Given the description of an element on the screen output the (x, y) to click on. 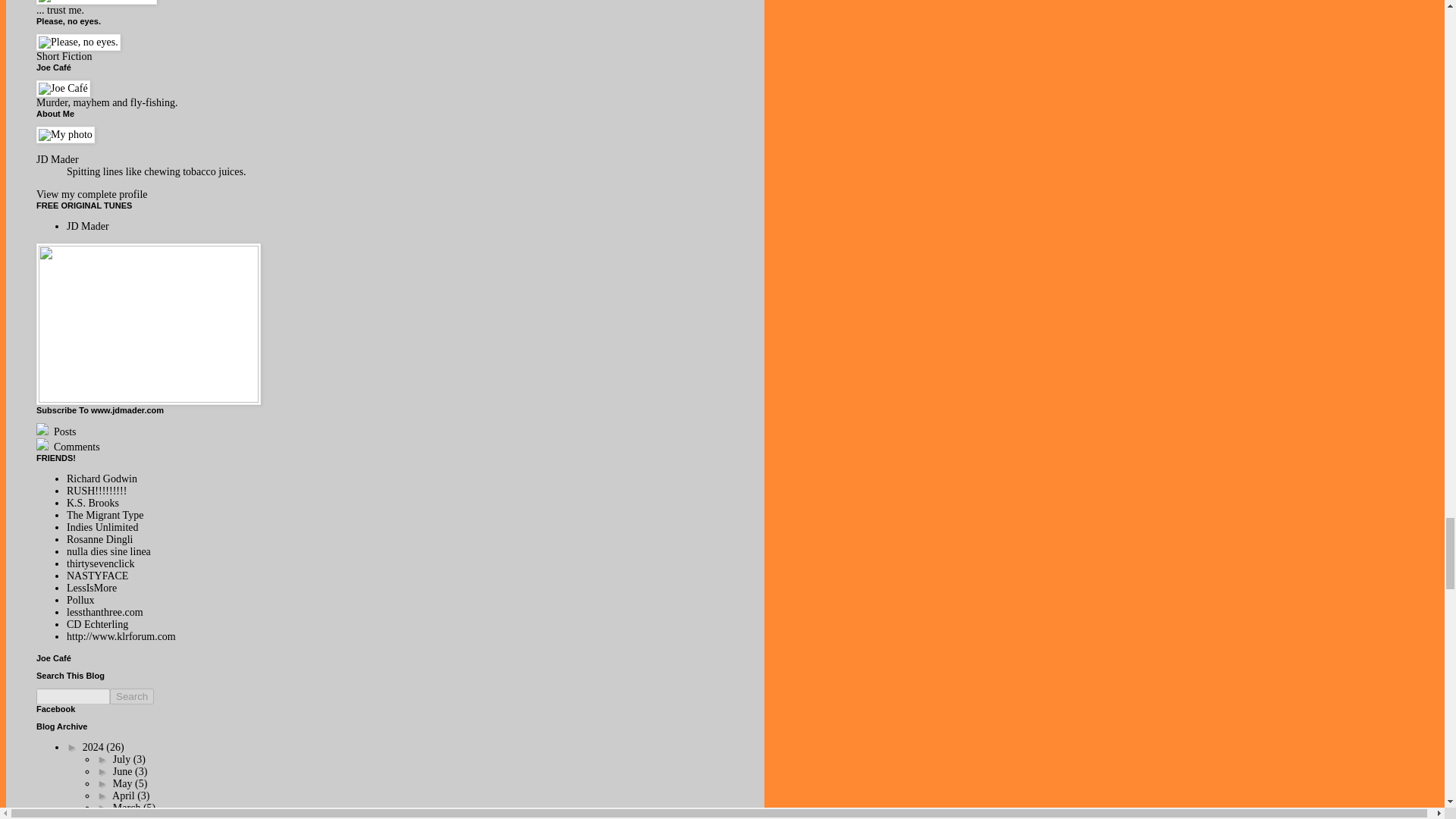
search (73, 696)
search (132, 696)
Search (132, 696)
Search (132, 696)
